Given the description of an element on the screen output the (x, y) to click on. 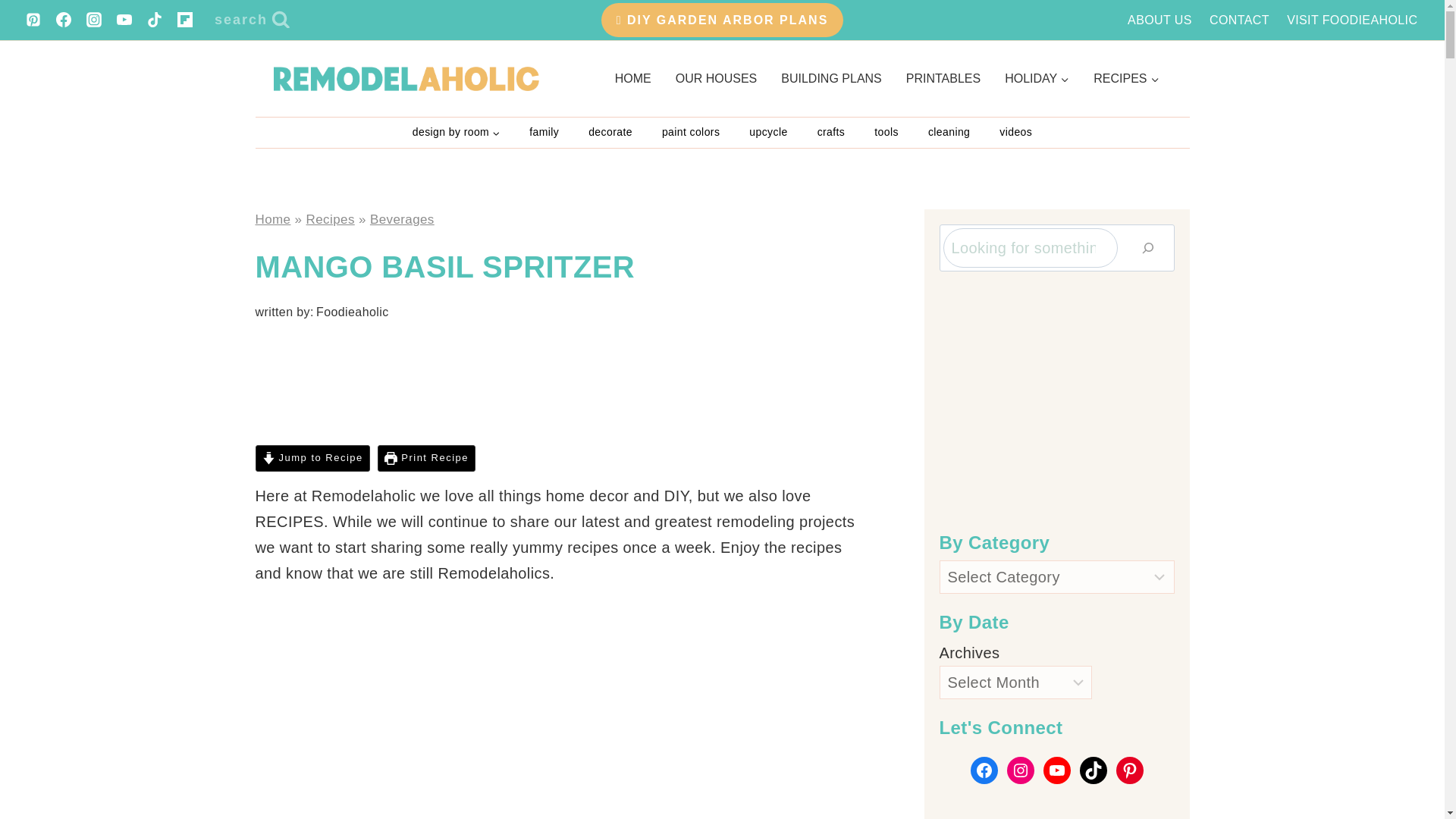
search (252, 19)
BUILDING PLANS (830, 78)
HOME (632, 78)
ABOUT US (1160, 19)
design by room (455, 132)
HOLIDAY (1036, 78)
VISIT FOODIEAHOLIC (1352, 19)
PRINTABLES (942, 78)
OUR HOUSES (716, 78)
RECIPES (1125, 78)
CONTACT (1238, 19)
